Given the description of an element on the screen output the (x, y) to click on. 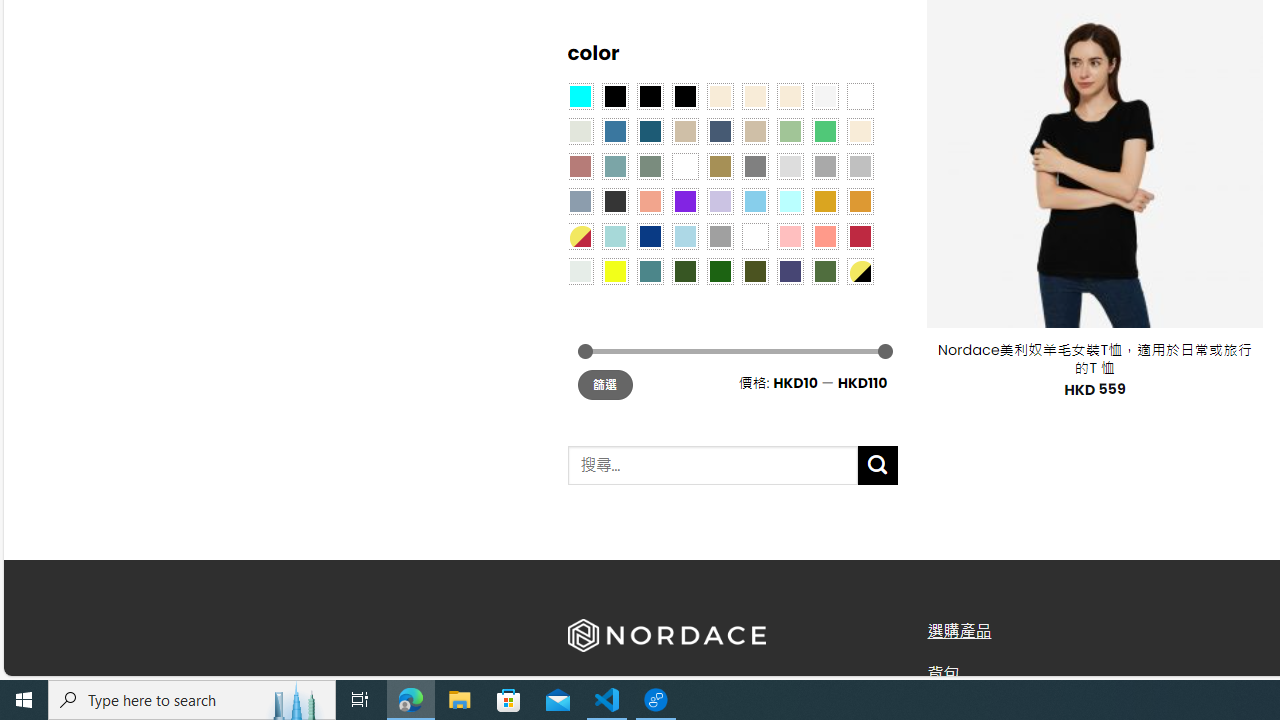
Dull Nickle (579, 270)
